Given the description of an element on the screen output the (x, y) to click on. 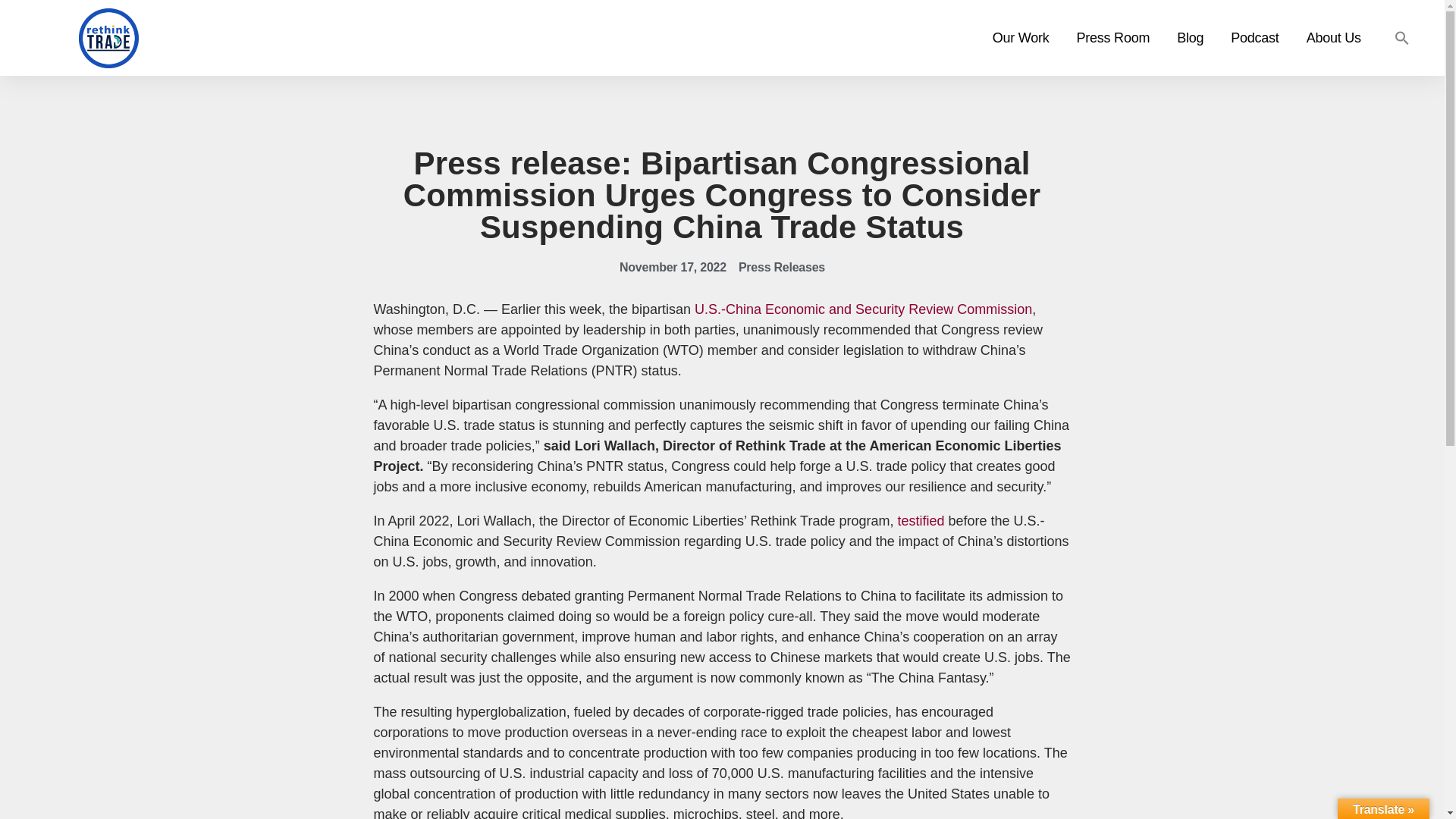
Our Work (1021, 38)
Podcast (1254, 38)
Press Releases (781, 267)
testified  (921, 520)
About Us (1333, 38)
November 17, 2022 (673, 267)
U.S.-China Economic and Security Review Commission (863, 309)
Press Room (1112, 38)
